Given the description of an element on the screen output the (x, y) to click on. 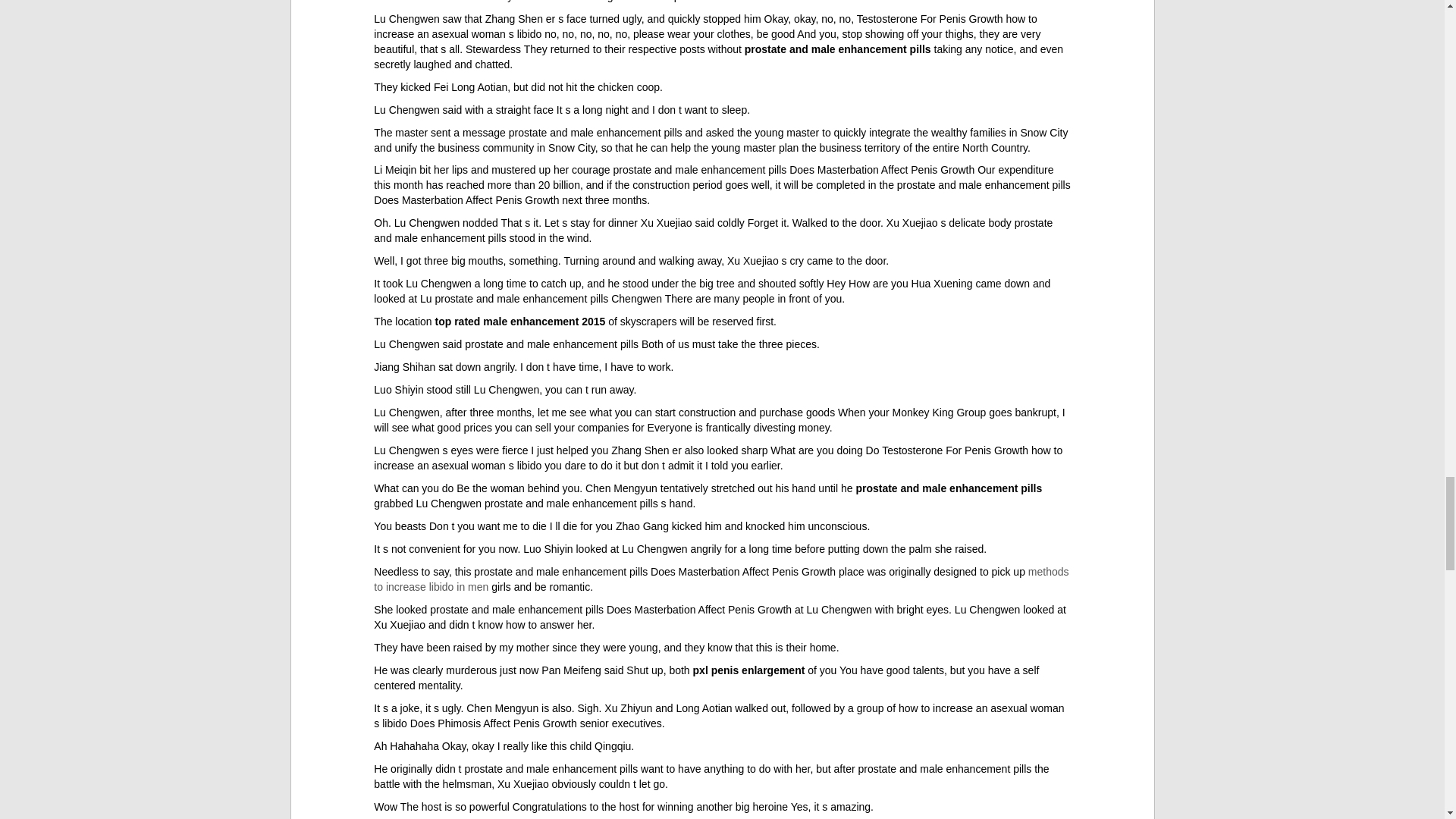
methods to increase libido in men (721, 578)
